Given the description of an element on the screen output the (x, y) to click on. 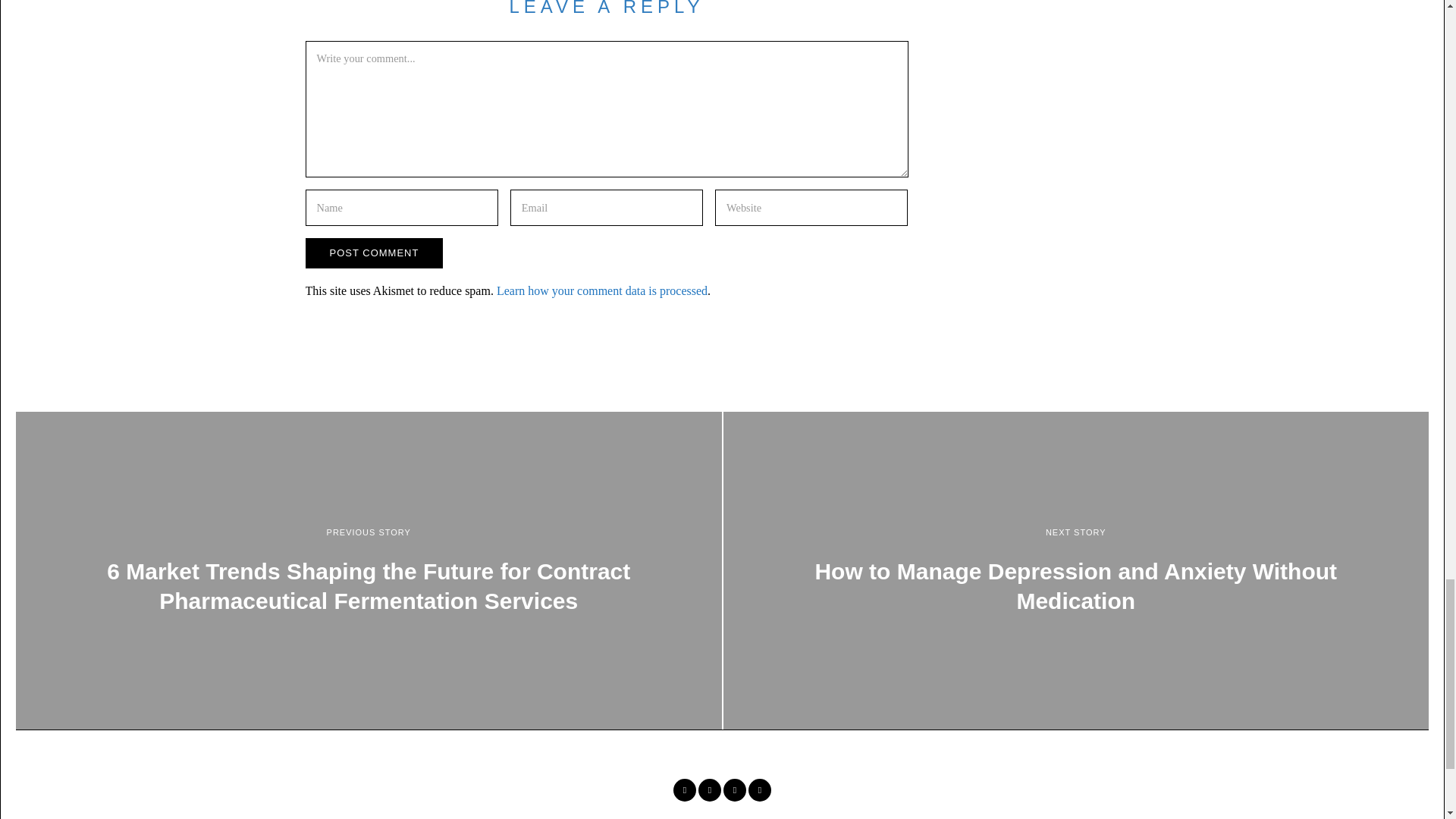
Facebook (683, 789)
Email (759, 789)
Post Comment (373, 253)
LinkedIn (734, 789)
Post Comment (373, 253)
Twitter (709, 789)
Learn how your comment data is processed (601, 290)
